Given the description of an element on the screen output the (x, y) to click on. 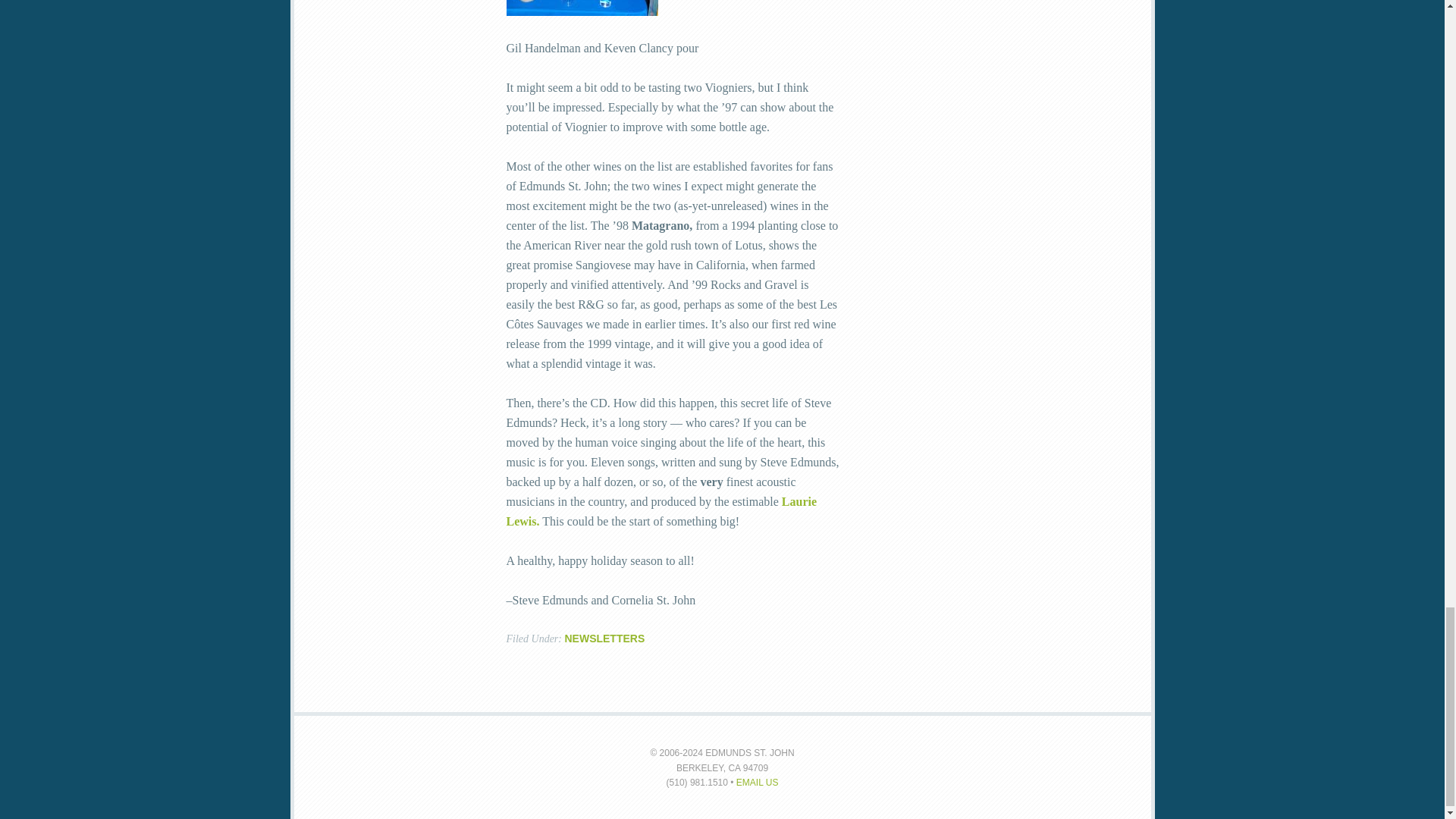
Laurie Lewis. (661, 511)
NEWSLETTERS (604, 638)
